Given the description of an element on the screen output the (x, y) to click on. 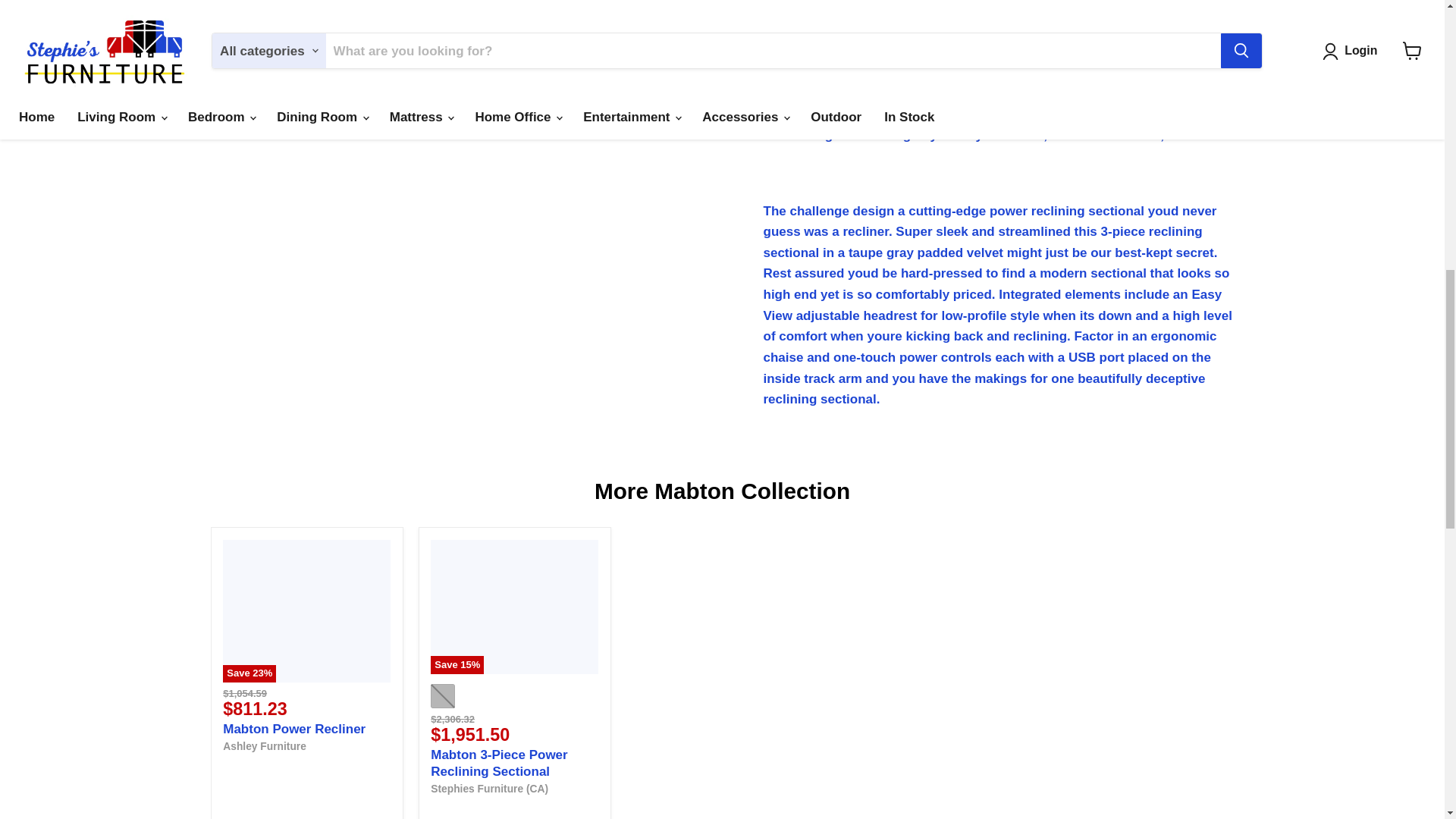
Ashley Furniture (263, 746)
